Given the description of an element on the screen output the (x, y) to click on. 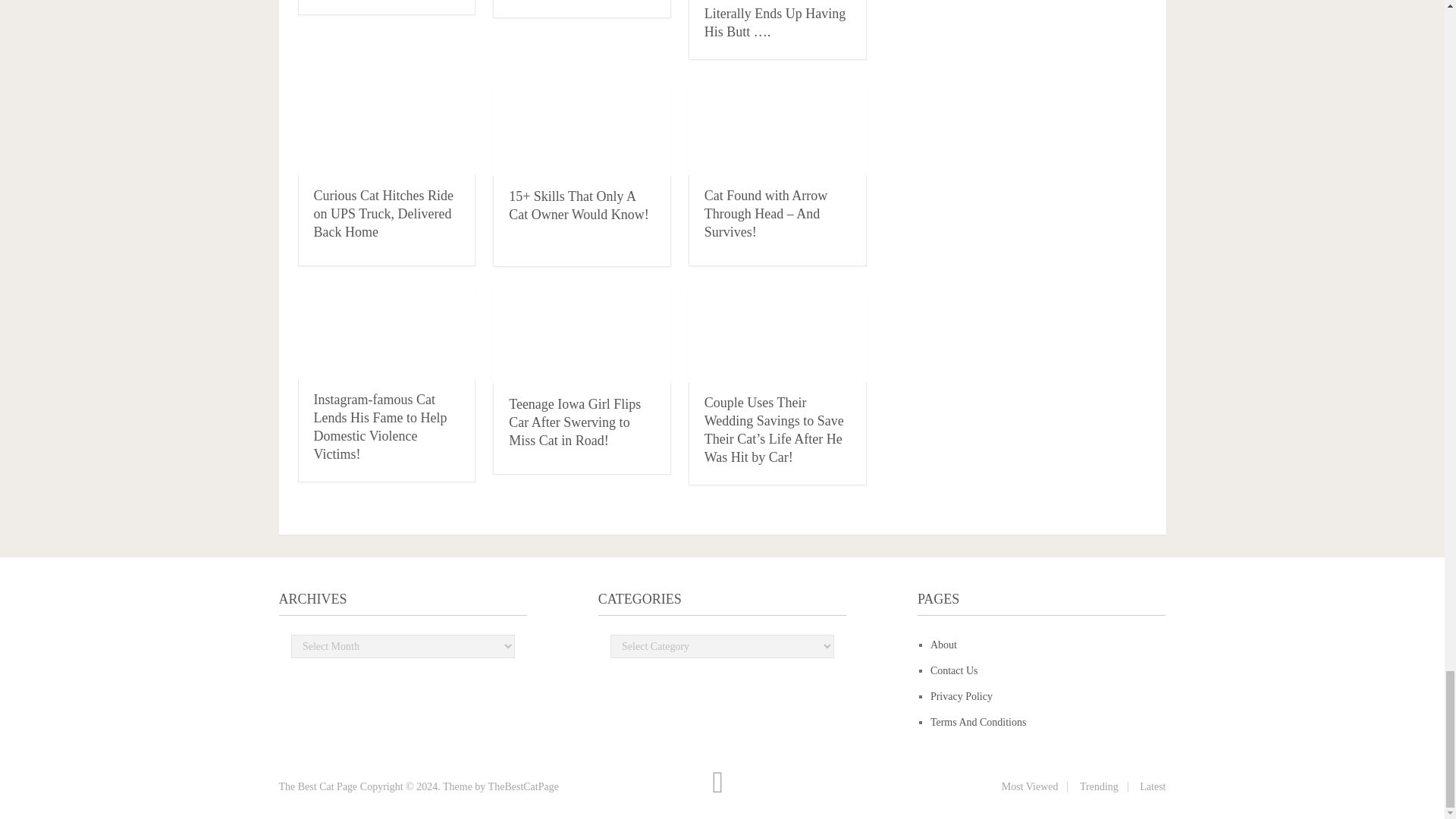
Curious Cat Hitches Ride on UPS Truck, Delivered Back Home (386, 128)
Curious Cat Hitches Ride on UPS Truck, Delivered Back Home (383, 213)
Curious Cat Hitches Ride on UPS Truck, Delivered Back Home (383, 213)
